Given the description of an element on the screen output the (x, y) to click on. 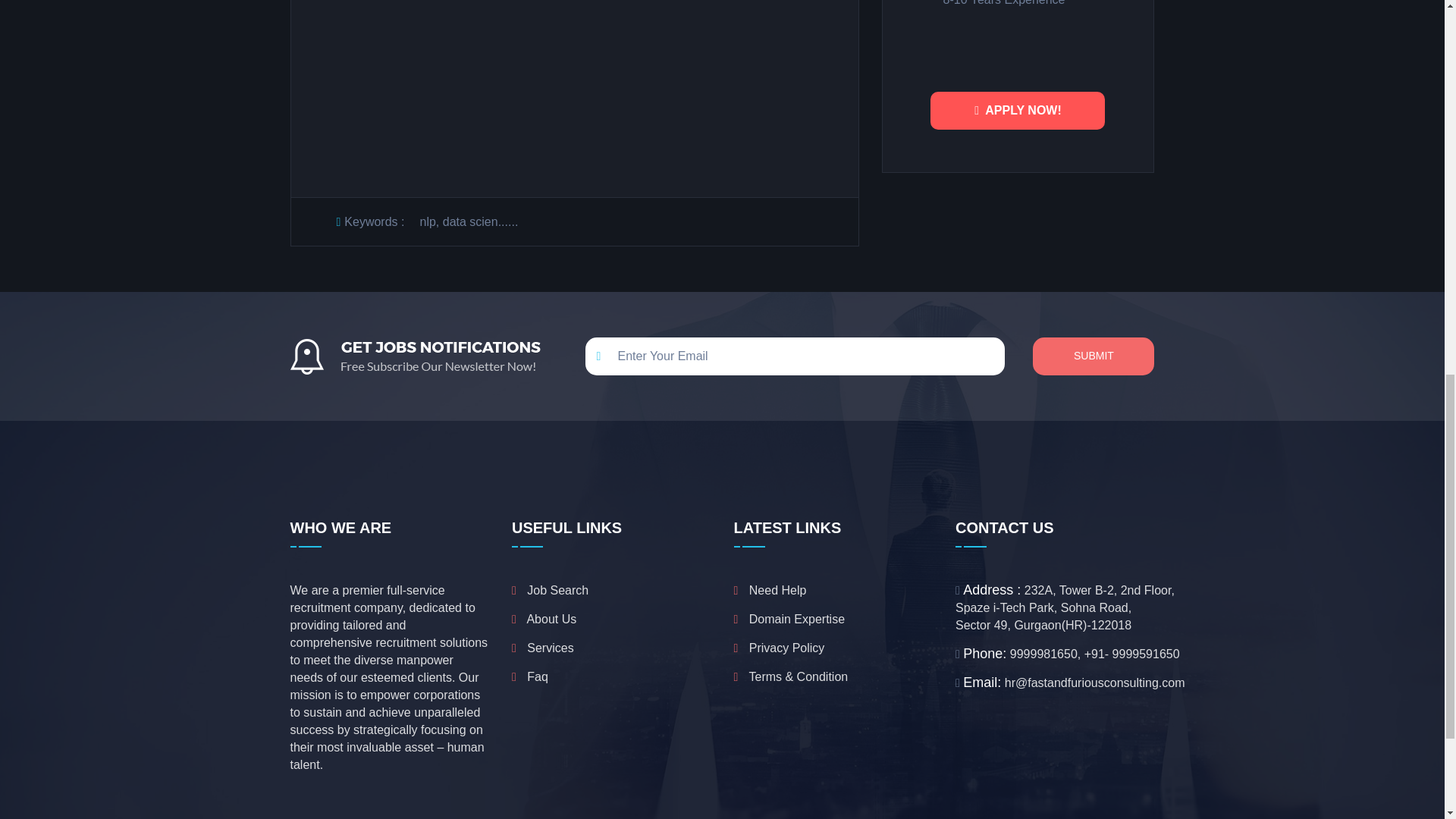
About Us (544, 619)
SUBMIT (1093, 356)
Faq (530, 676)
Domain Expertise (789, 619)
Privacy Policy (779, 647)
Need Help (769, 589)
 APPLY NOW! (1017, 110)
Services (542, 647)
Job Search (550, 589)
